Given the description of an element on the screen output the (x, y) to click on. 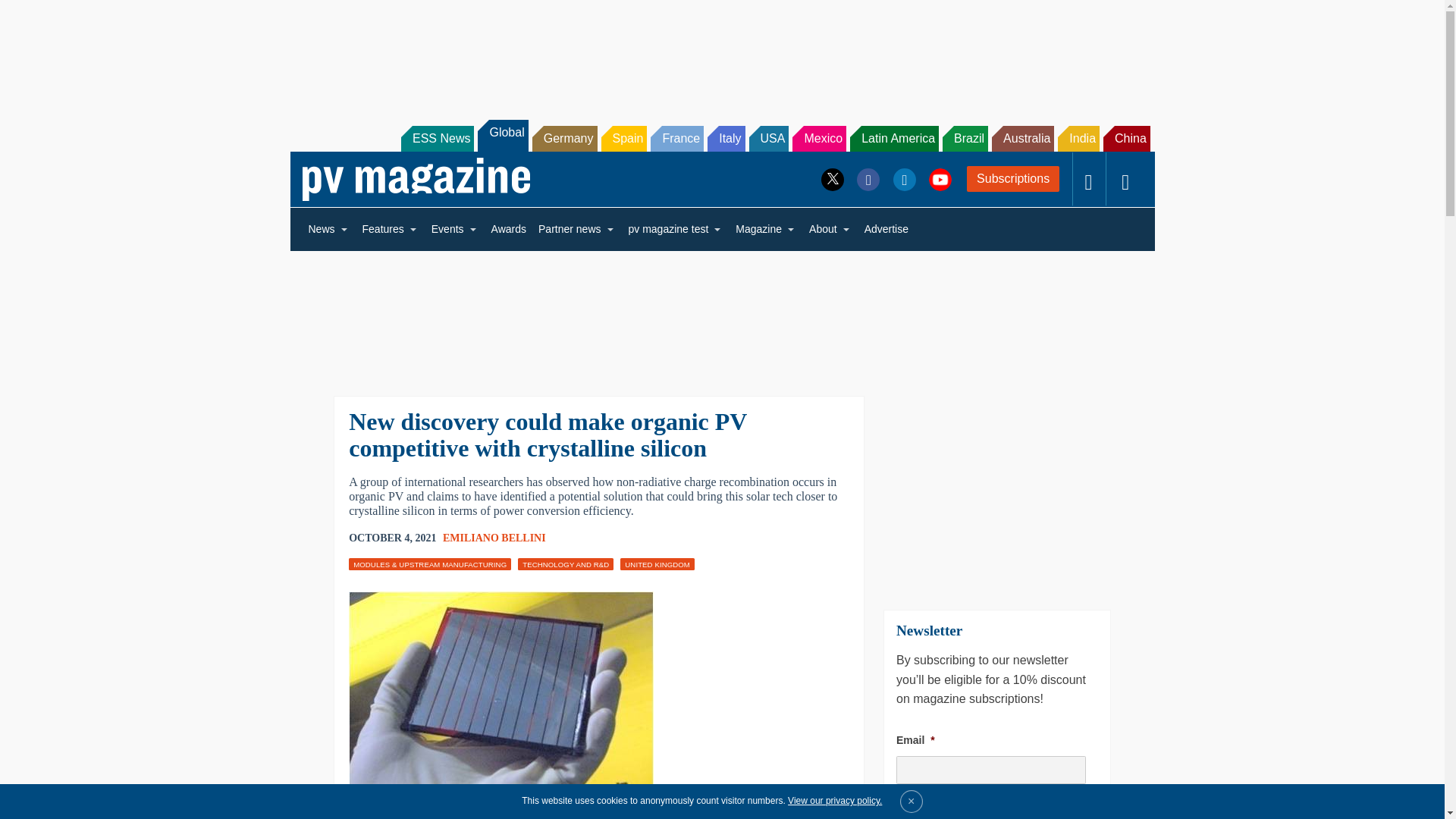
3rd party ad content (996, 490)
Monday, October 4, 2021, 11:45 am (392, 538)
Mexico (818, 138)
Posts by Emiliano Bellini (494, 537)
Brazil (965, 138)
Global (502, 135)
Germany (564, 138)
3rd party ad content (721, 50)
Australia (1022, 138)
3rd party ad content (721, 313)
